Given the description of an element on the screen output the (x, y) to click on. 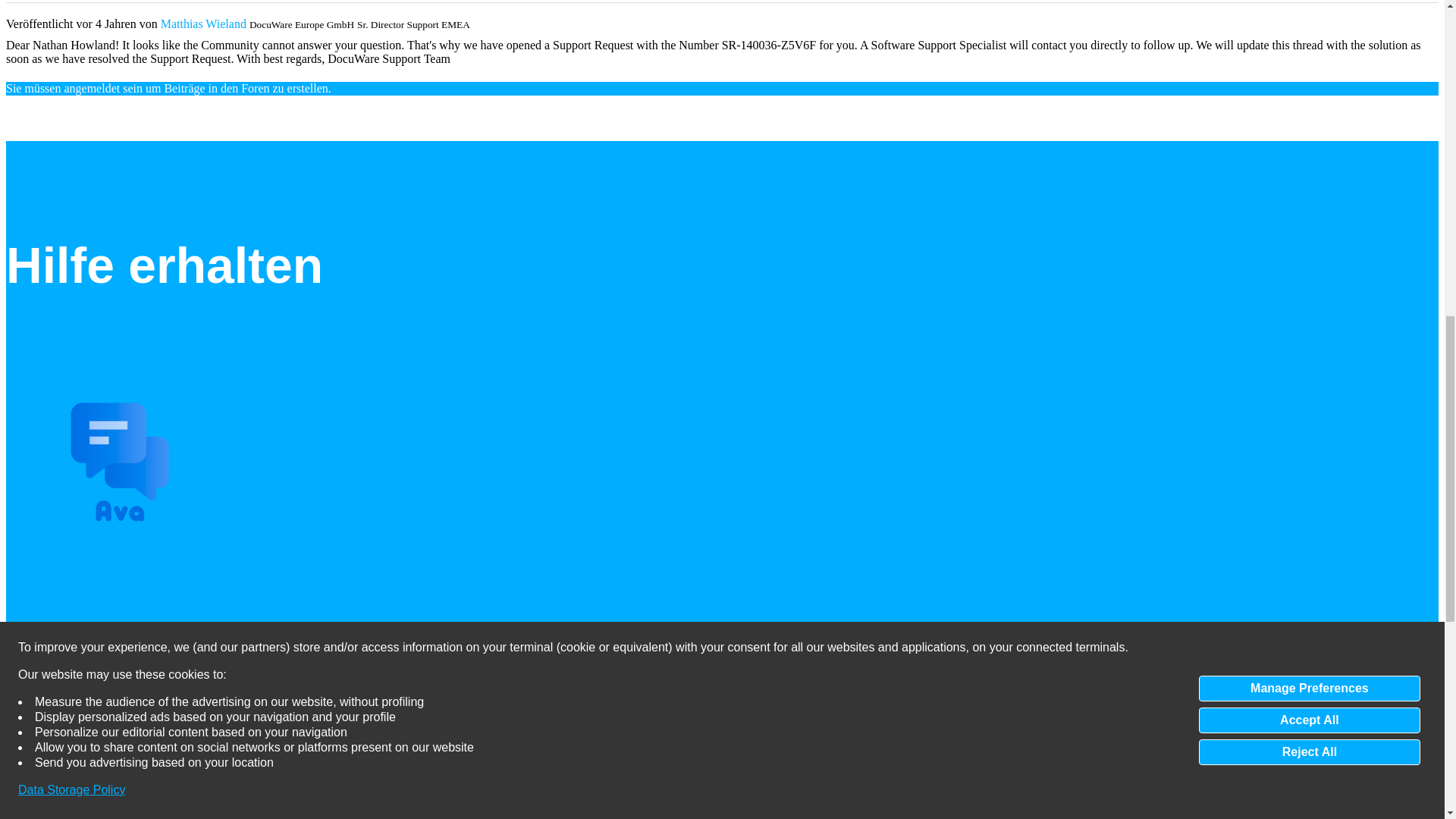
Suche in Knowledge Base (147, 685)
Matthias Wieland (203, 23)
